Given the description of an element on the screen output the (x, y) to click on. 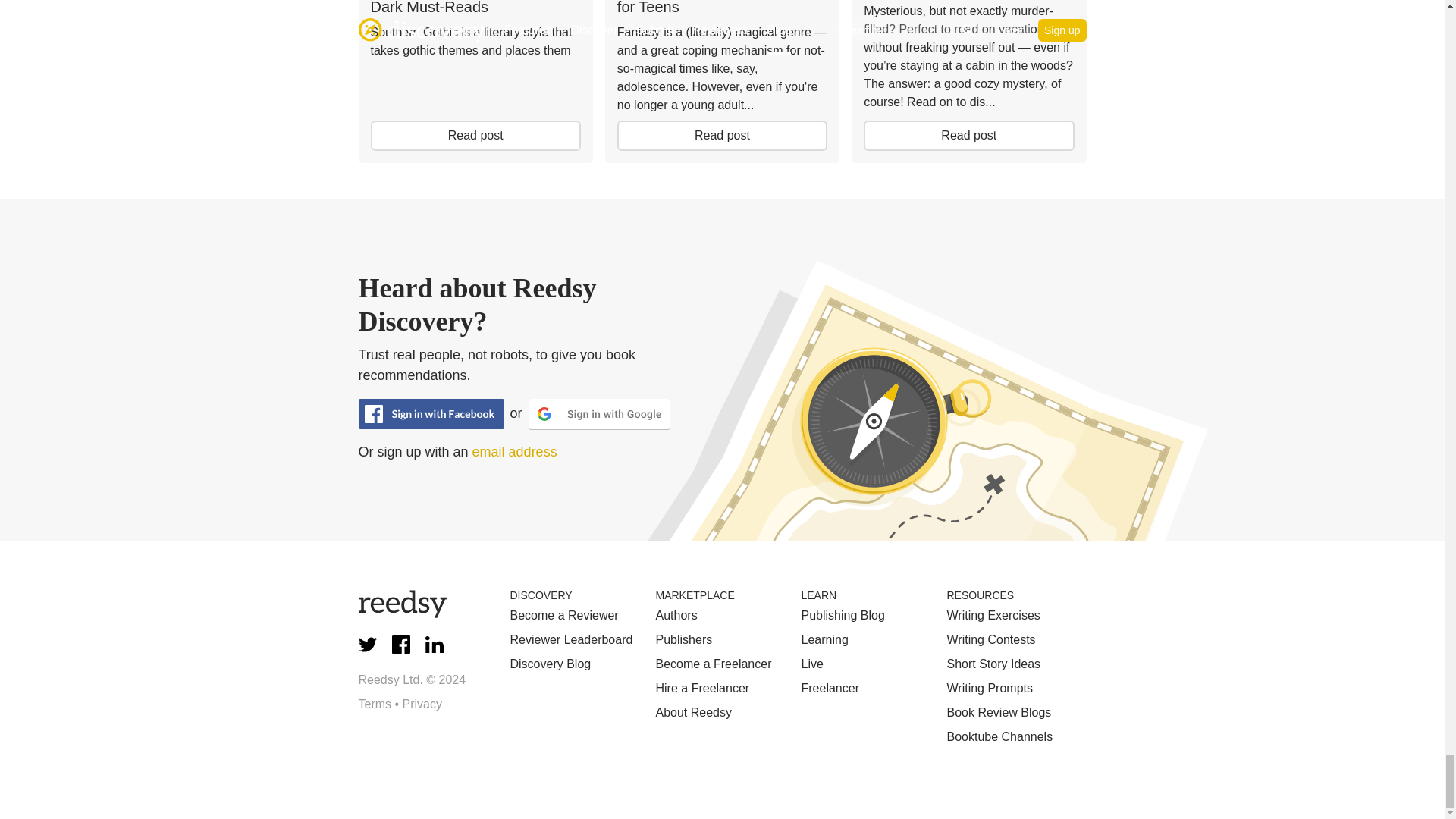
LinkedIn (434, 644)
Facebook (400, 644)
Twitter (366, 644)
